Given the description of an element on the screen output the (x, y) to click on. 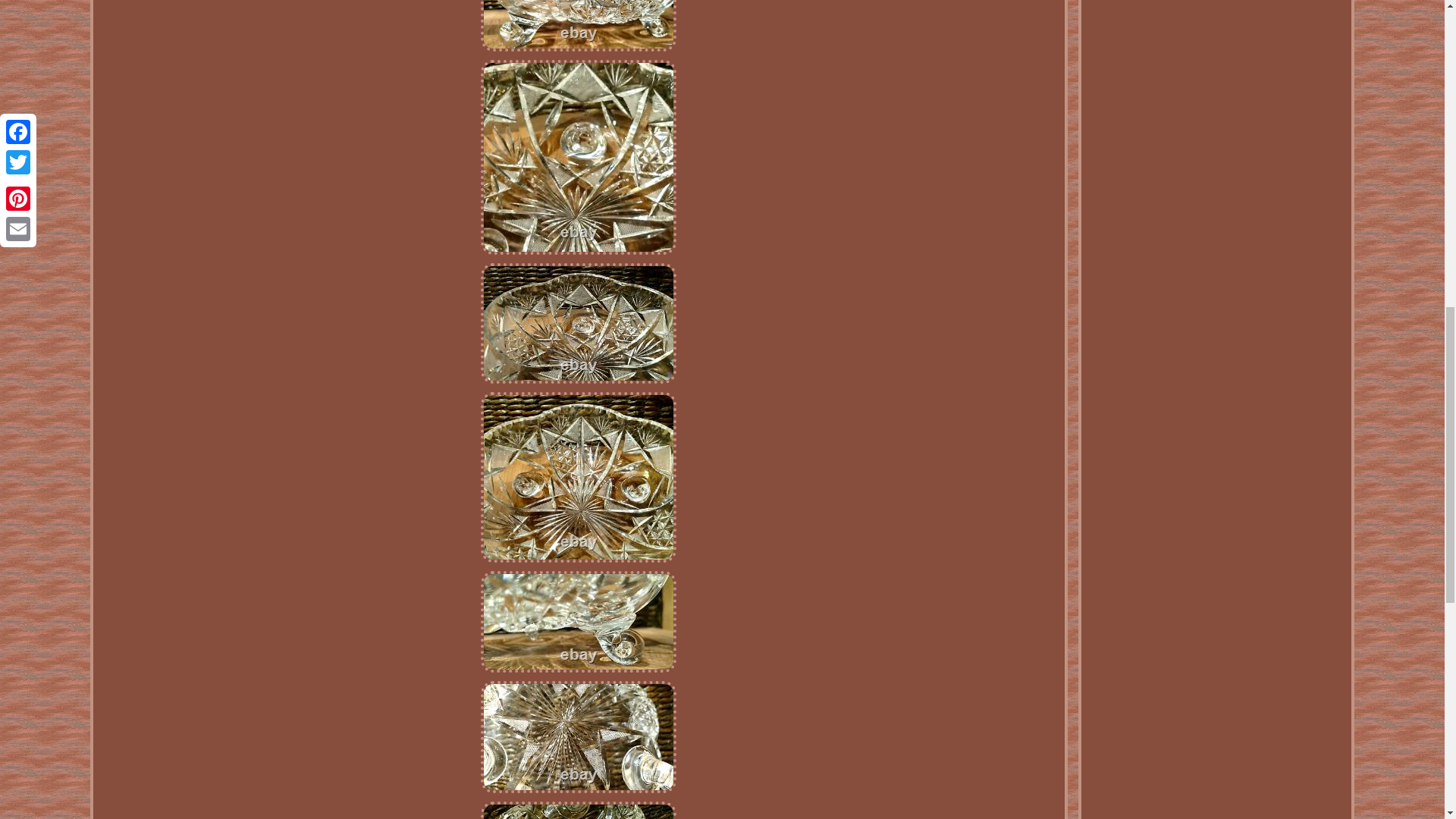
American Brilliant Cut Glass, Lead Crystal Footed Bowl, EUC (578, 736)
American Brilliant Cut Glass, Lead Crystal Footed Bowl, EUC (578, 477)
American Brilliant Cut Glass, Lead Crystal Footed Bowl, EUC (578, 323)
American Brilliant Cut Glass, Lead Crystal Footed Bowl, EUC (578, 156)
American Brilliant Cut Glass, Lead Crystal Footed Bowl, EUC (578, 810)
American Brilliant Cut Glass, Lead Crystal Footed Bowl, EUC (578, 25)
American Brilliant Cut Glass, Lead Crystal Footed Bowl, EUC (578, 621)
